Given the description of an element on the screen output the (x, y) to click on. 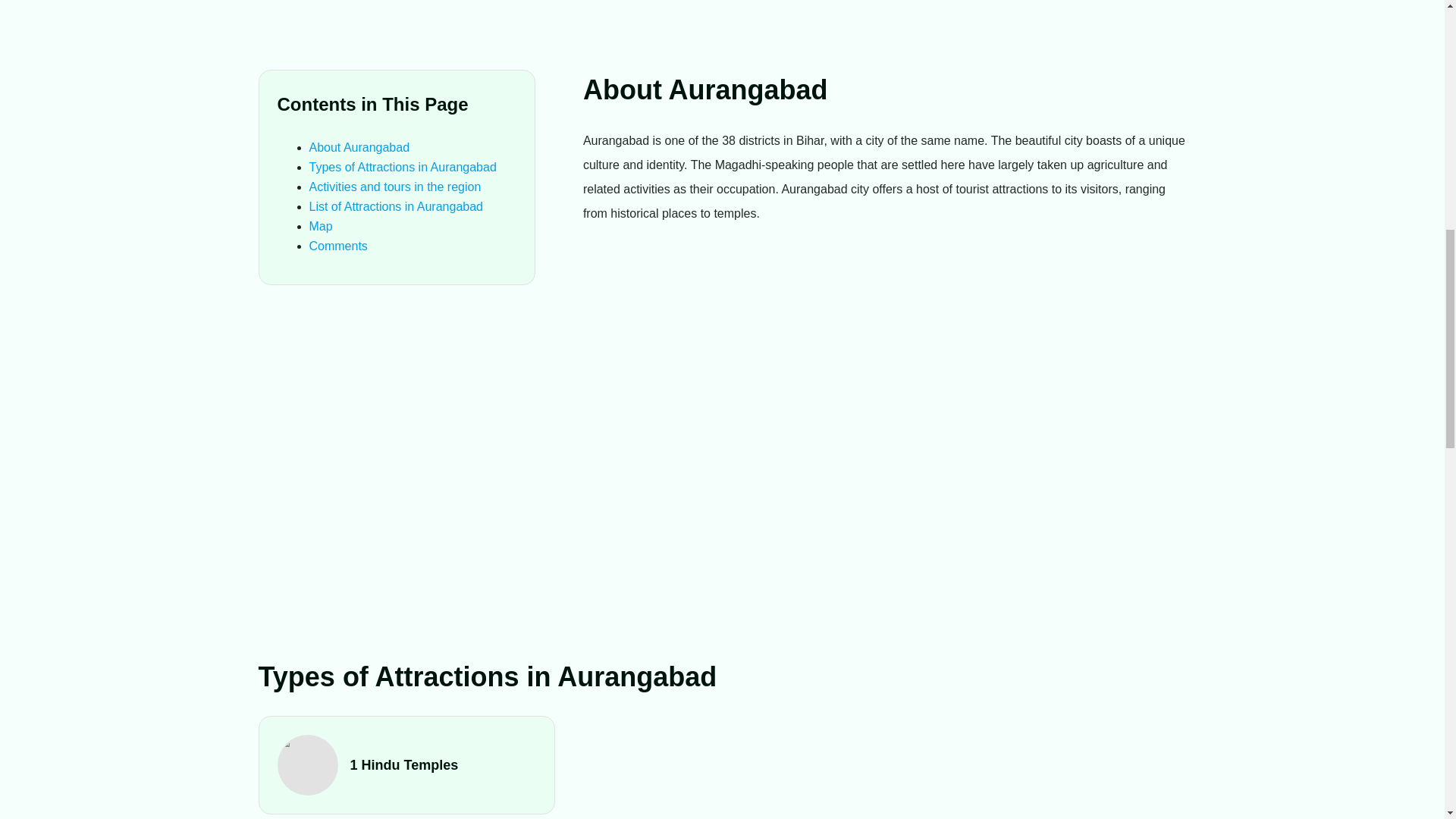
List of Attractions in Aurangabad (395, 205)
1 Hindu Temples (407, 764)
Types of Attractions in Aurangabad (402, 166)
Map (320, 226)
Comments (338, 245)
Activities and tours in the region (394, 186)
About Aurangabad (359, 146)
